Given the description of an element on the screen output the (x, y) to click on. 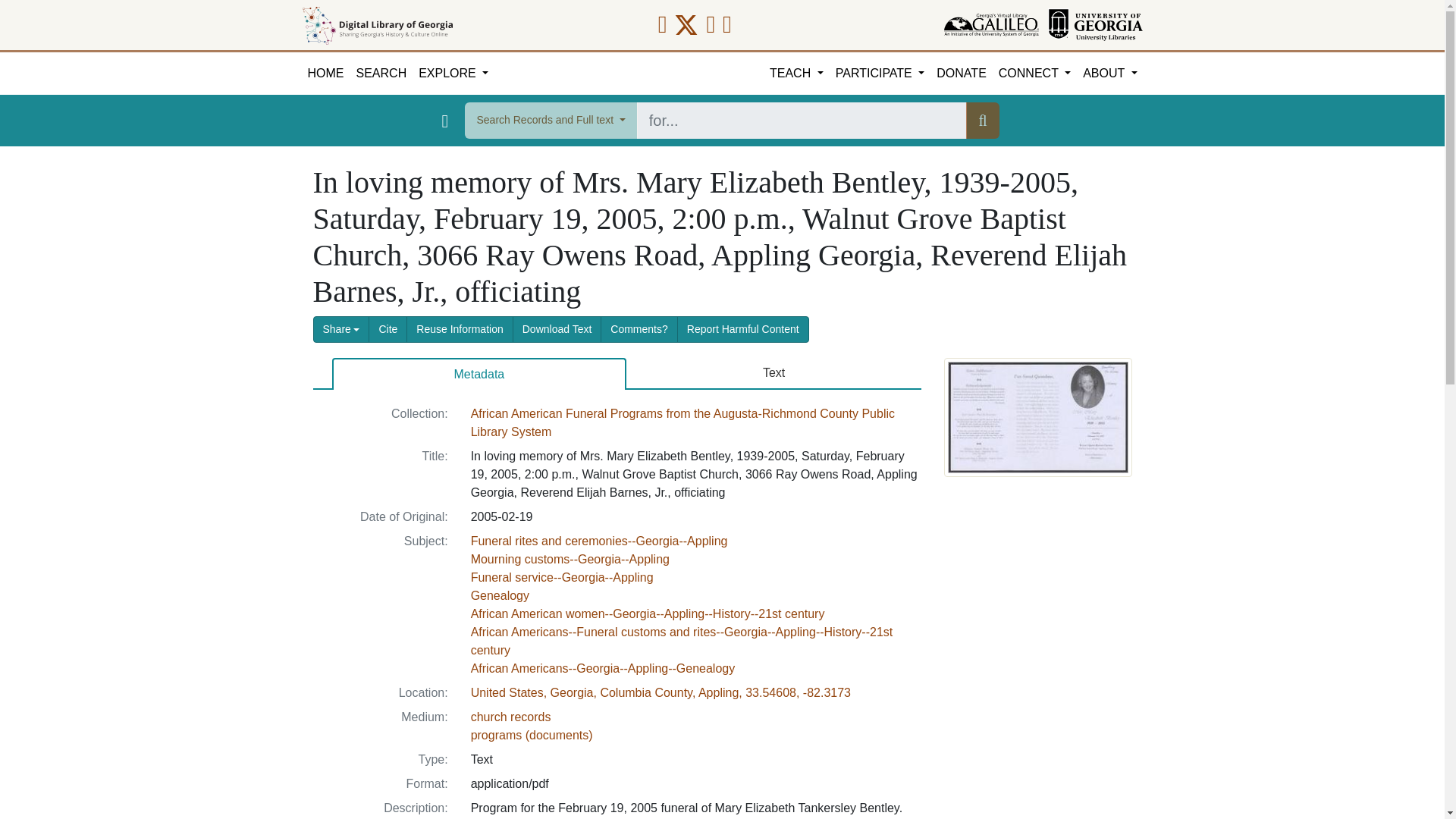
HOME (325, 73)
CONNECT (1034, 73)
DONATE (960, 73)
SEARCH (381, 73)
PARTICIPATE (880, 73)
TEACH (795, 73)
EXPLORE (453, 73)
